Given the description of an element on the screen output the (x, y) to click on. 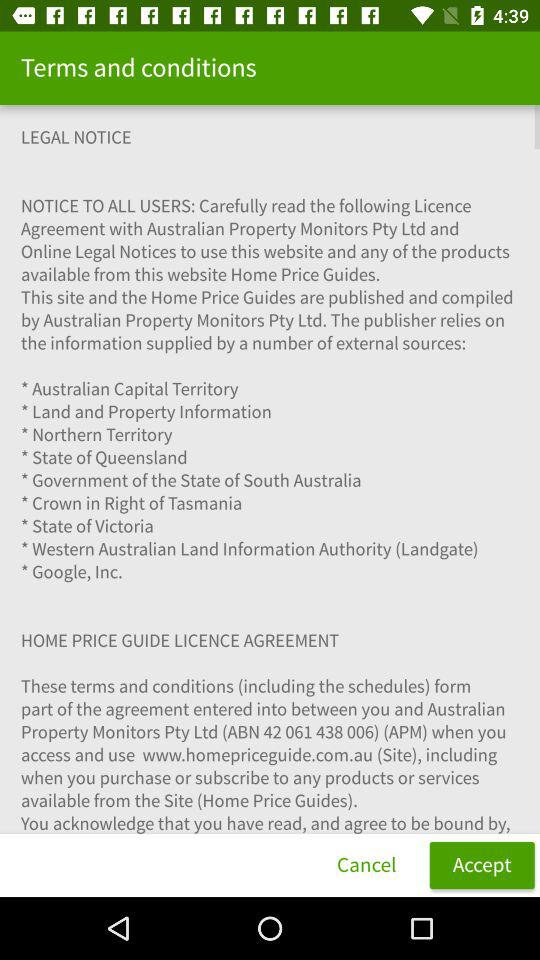
press item next to cancel icon (482, 864)
